Given the description of an element on the screen output the (x, y) to click on. 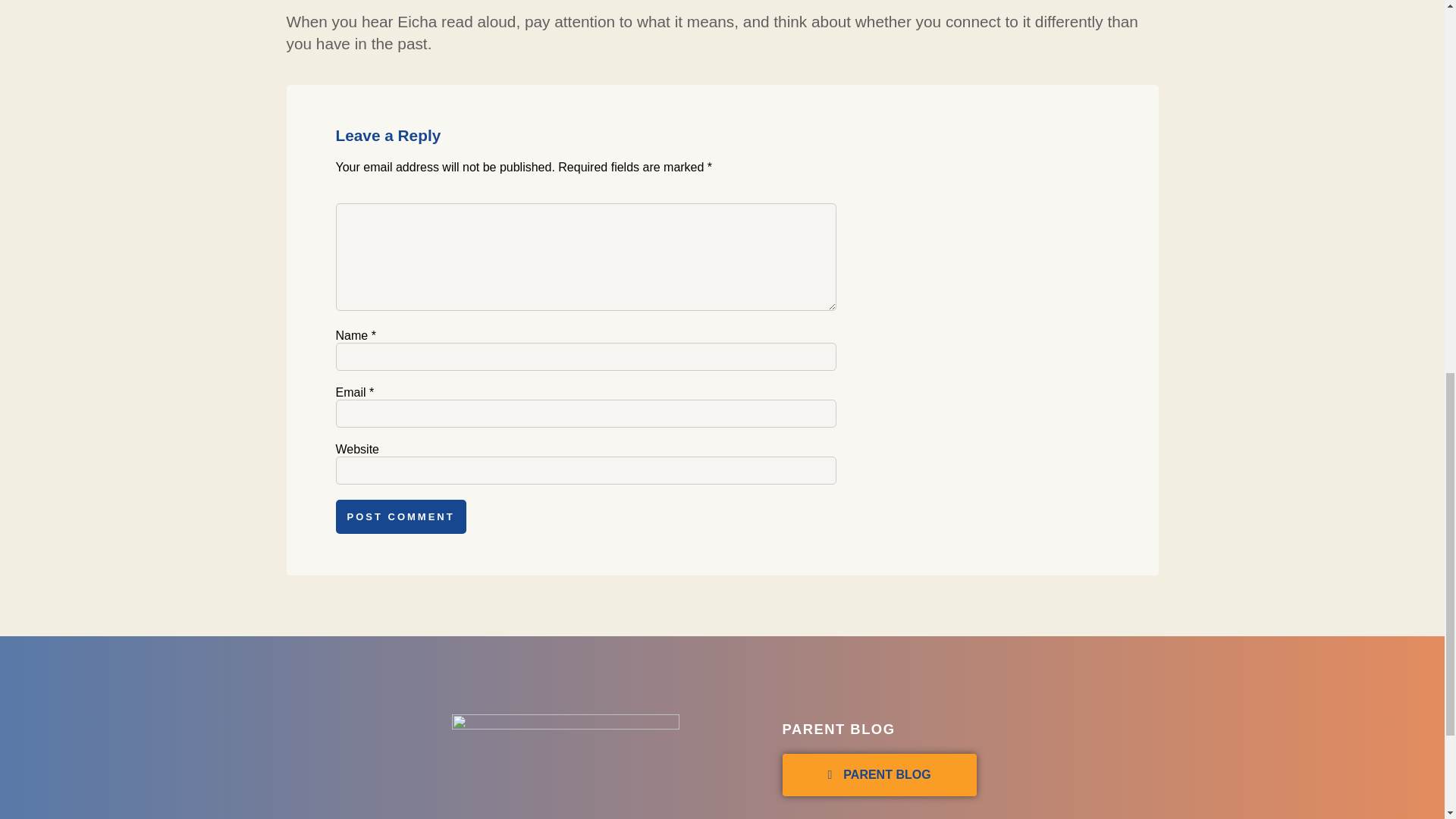
Post Comment (399, 516)
